Given the description of an element on the screen output the (x, y) to click on. 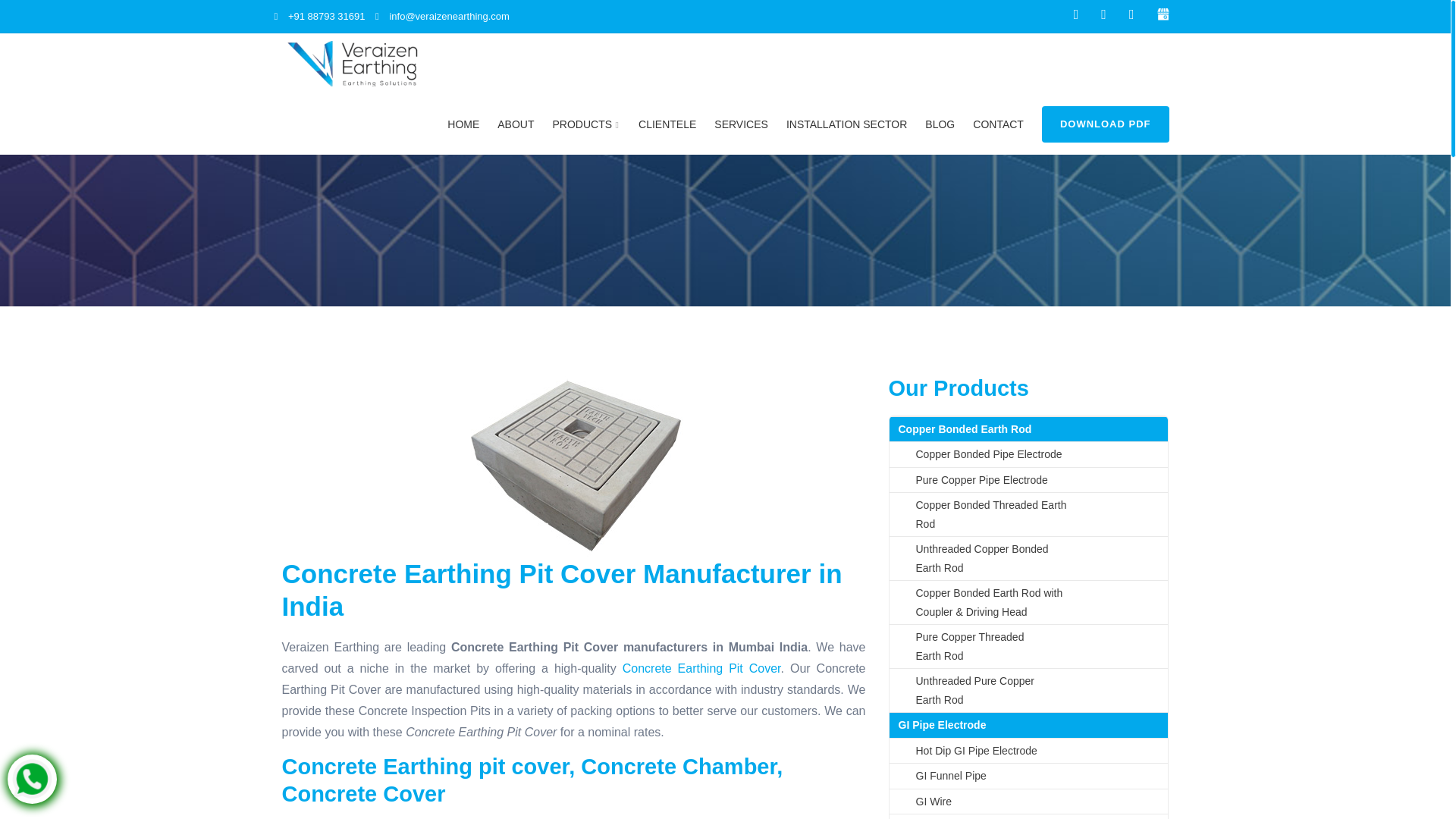
Google Business (1163, 12)
ABOUT (515, 124)
Concrete Earthing pit cover Manufacturer (572, 465)
PRODUCTS (586, 124)
PRODUCTS (586, 124)
Direct message to Veraizenearthing via Whatsapp (31, 778)
